Given the description of an element on the screen output the (x, y) to click on. 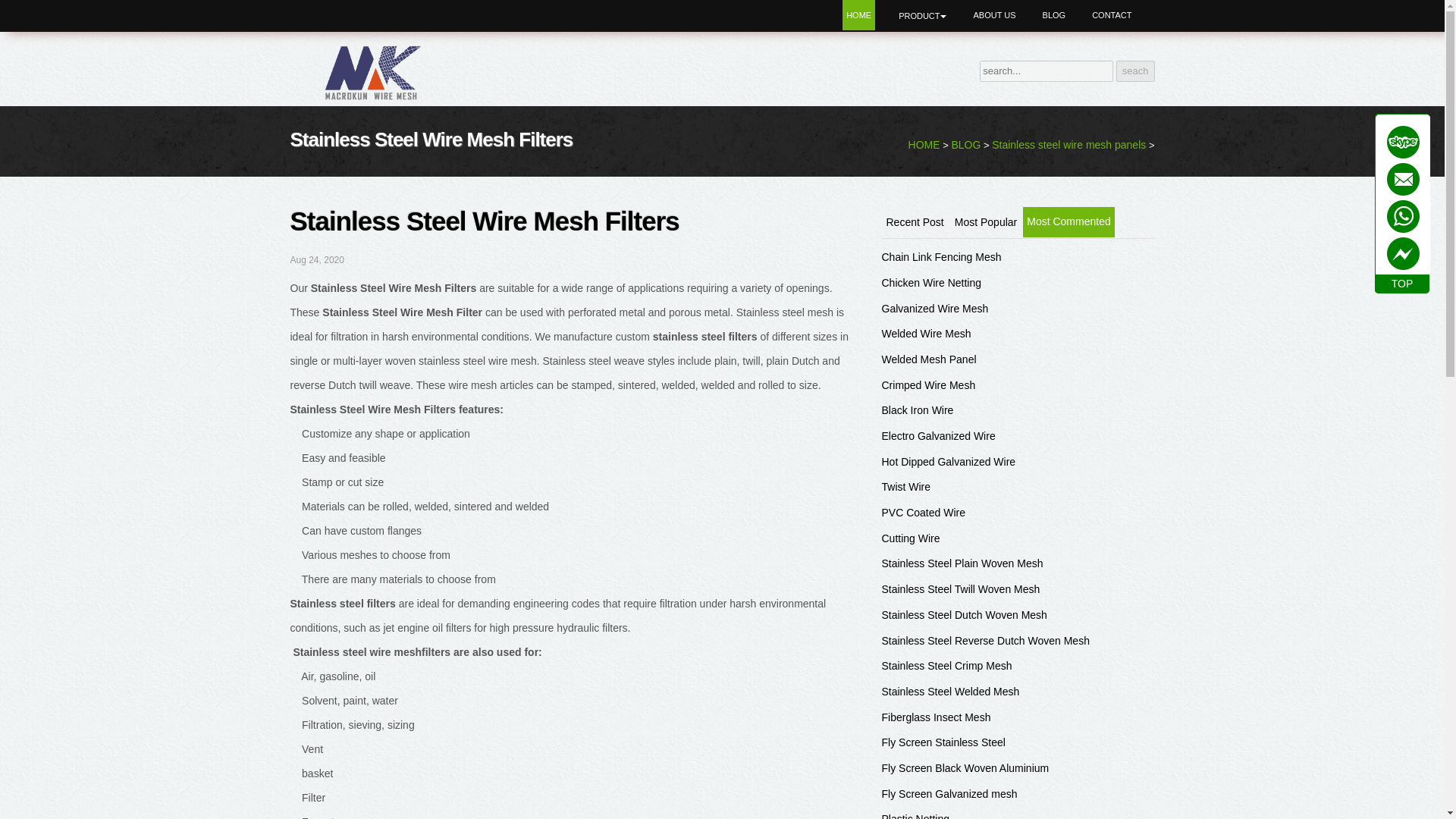
PRODUCT (921, 15)
seach (1135, 70)
HOME (859, 15)
